Given the description of an element on the screen output the (x, y) to click on. 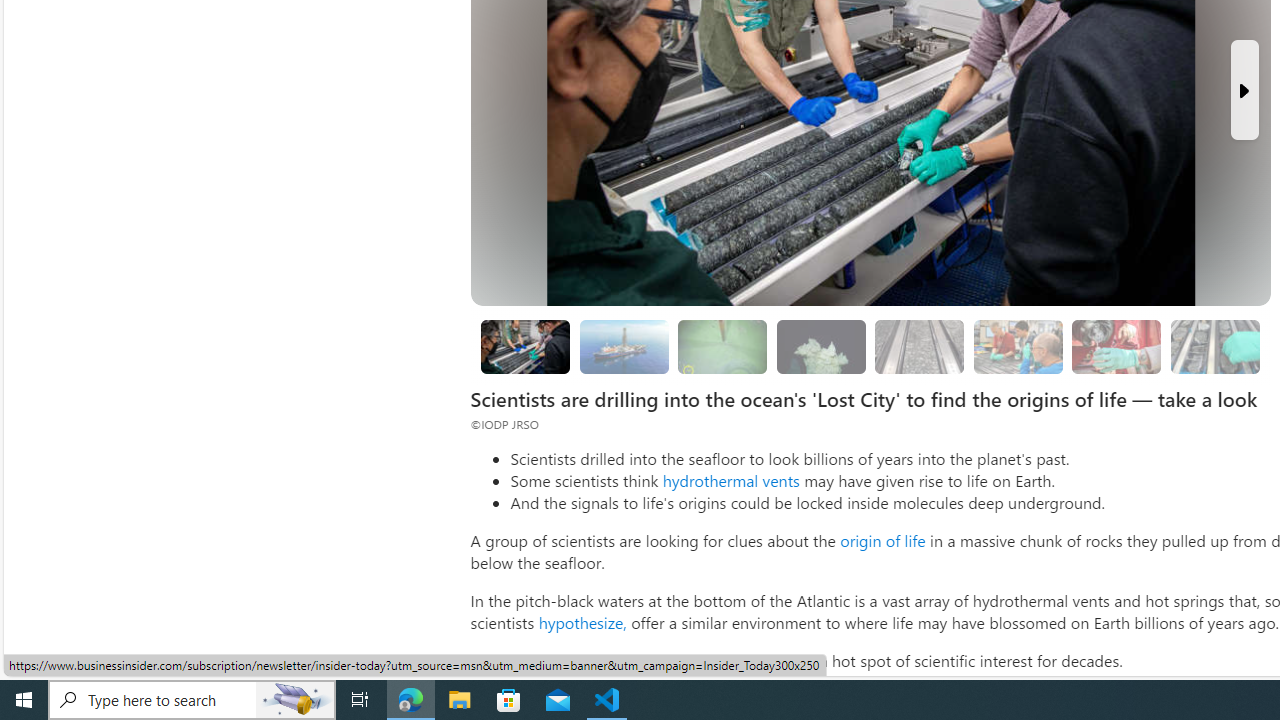
hydrothermal vents (730, 480)
Next Slide (1244, 89)
Looking for evidence of oxygen-free life (1017, 346)
The Lost City could hold clues to the origin of life. (820, 346)
hypothesize, (582, 622)
Researchers are still studying the samples (1214, 346)
origin of life (882, 539)
The Lost City could hold clues to the origin of life. (820, 346)
